Given the description of an element on the screen output the (x, y) to click on. 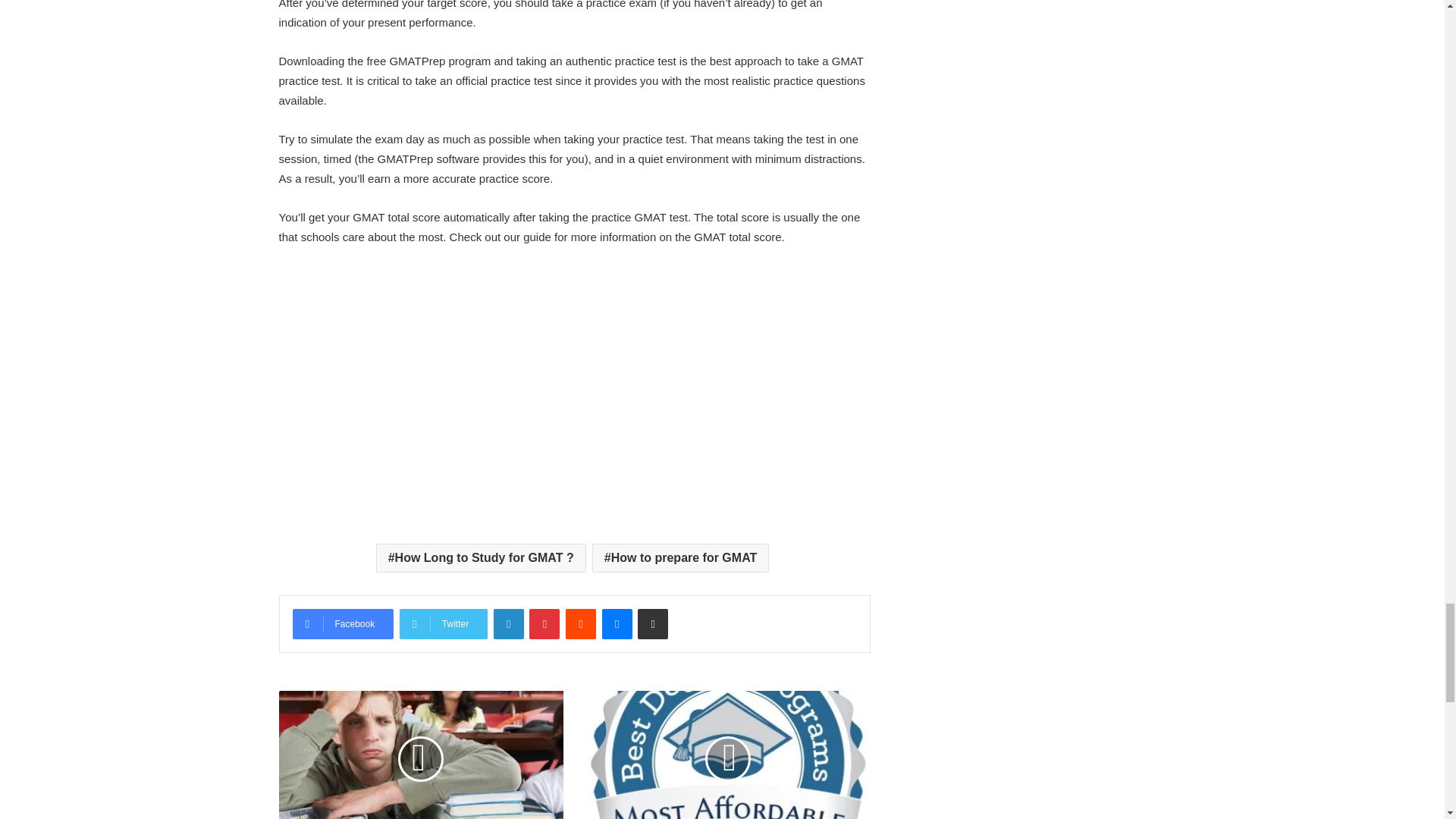
How Long to Study for GMAT ? (480, 557)
How to prepare for GMAT (681, 557)
